Given the description of an element on the screen output the (x, y) to click on. 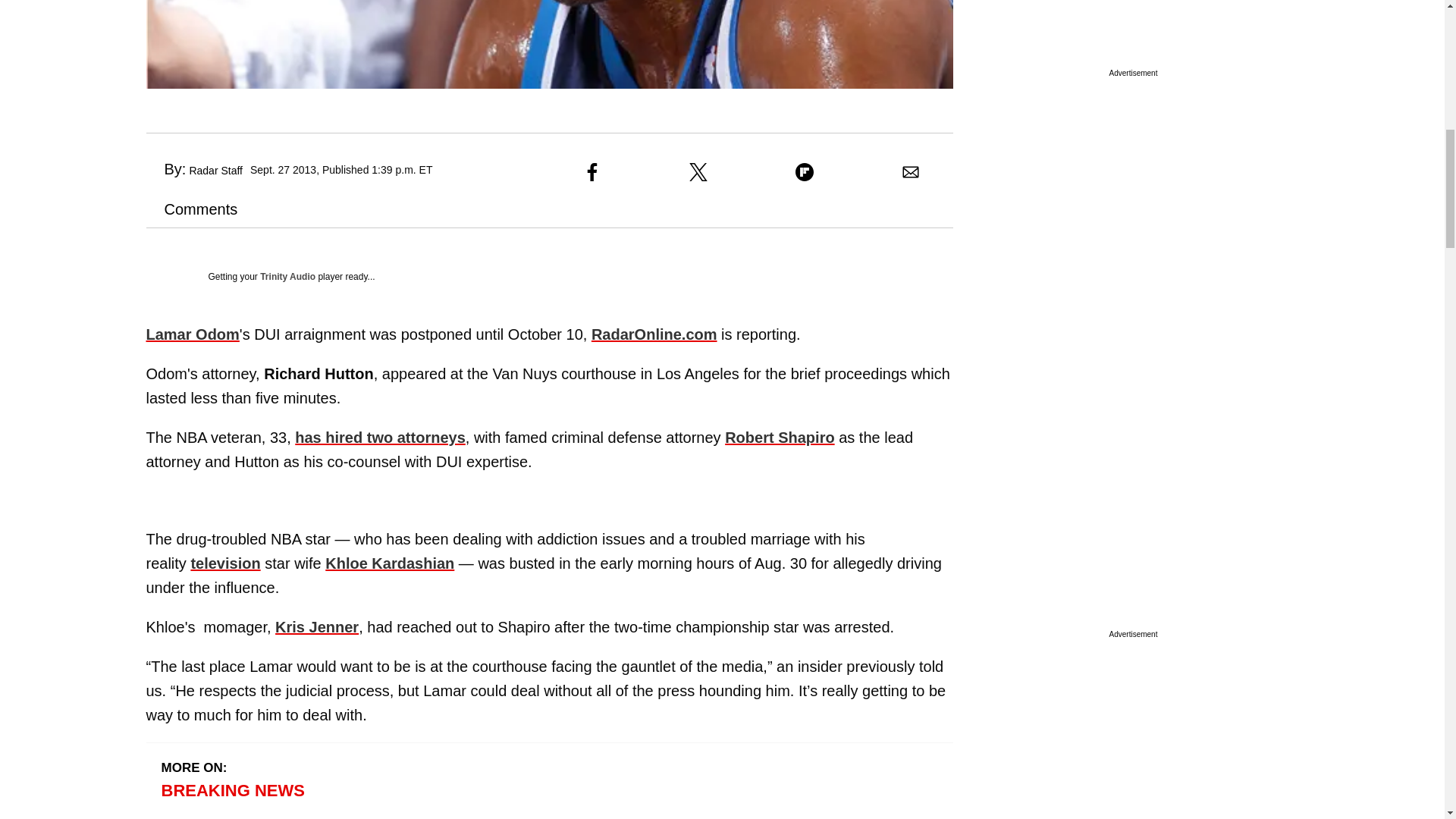
Comments (191, 208)
Share to X (697, 171)
Share to Email (909, 171)
Robert Shapiro (779, 437)
has hired two attorneys (380, 437)
Radar Staff (216, 170)
Share to Flipboard (803, 171)
Trinity Audio (287, 276)
Khloe Kardashian (389, 563)
Share to Facebook (590, 171)
